Given the description of an element on the screen output the (x, y) to click on. 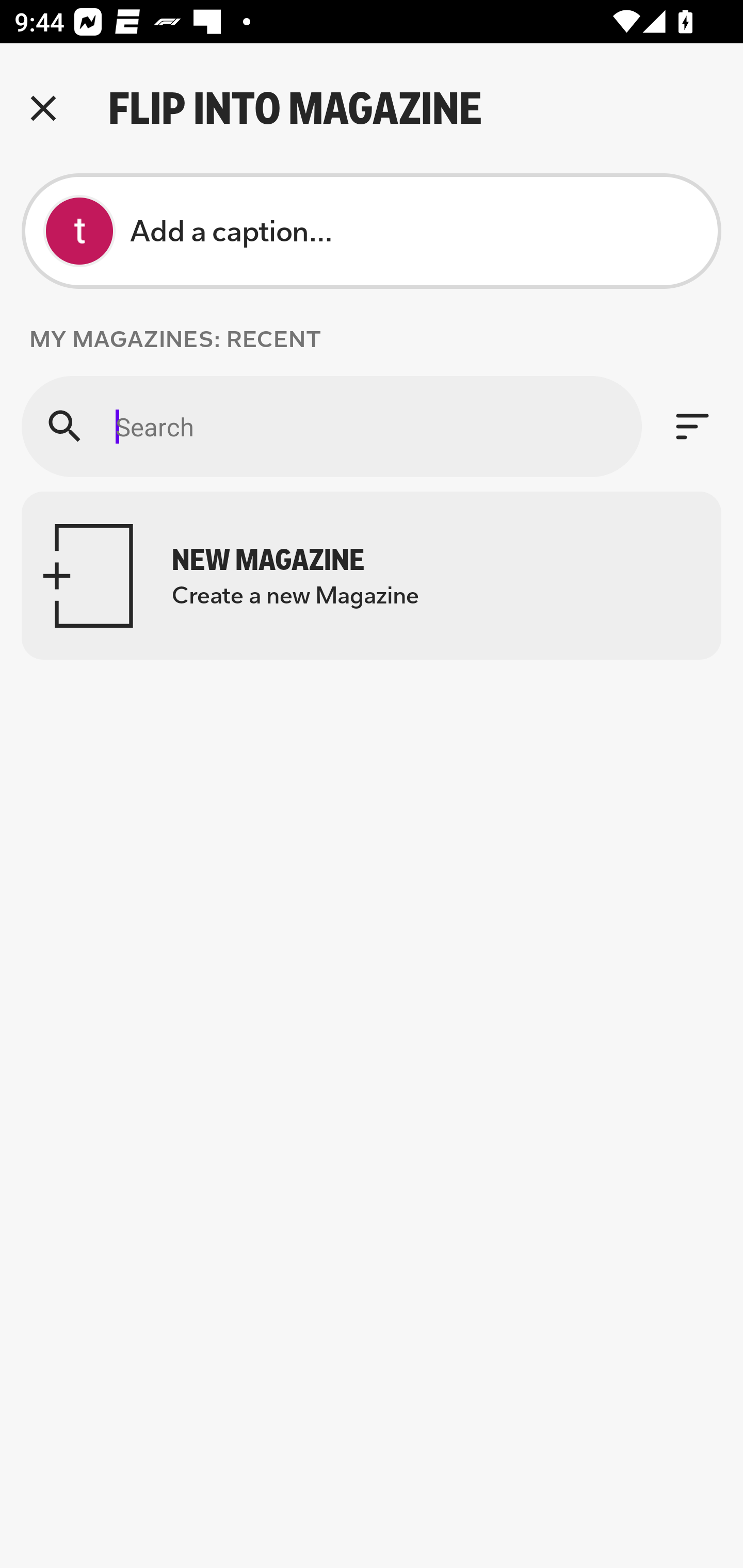
test appium Add a caption… (371, 231)
Search (331, 426)
NEW MAGAZINE Create a new Magazine (371, 575)
